Given the description of an element on the screen output the (x, y) to click on. 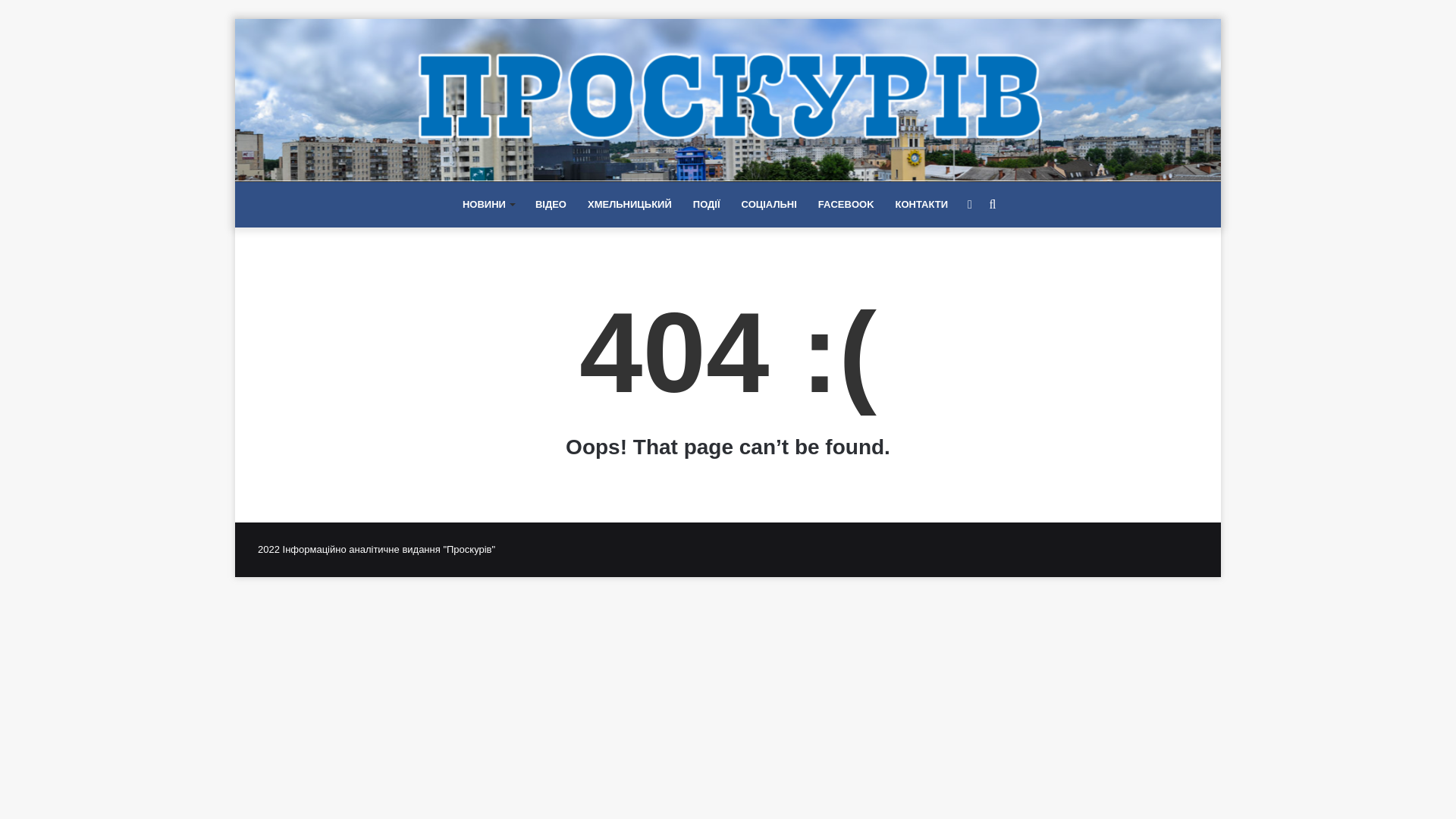
FACEBOOK (846, 204)
